Given the description of an element on the screen output the (x, y) to click on. 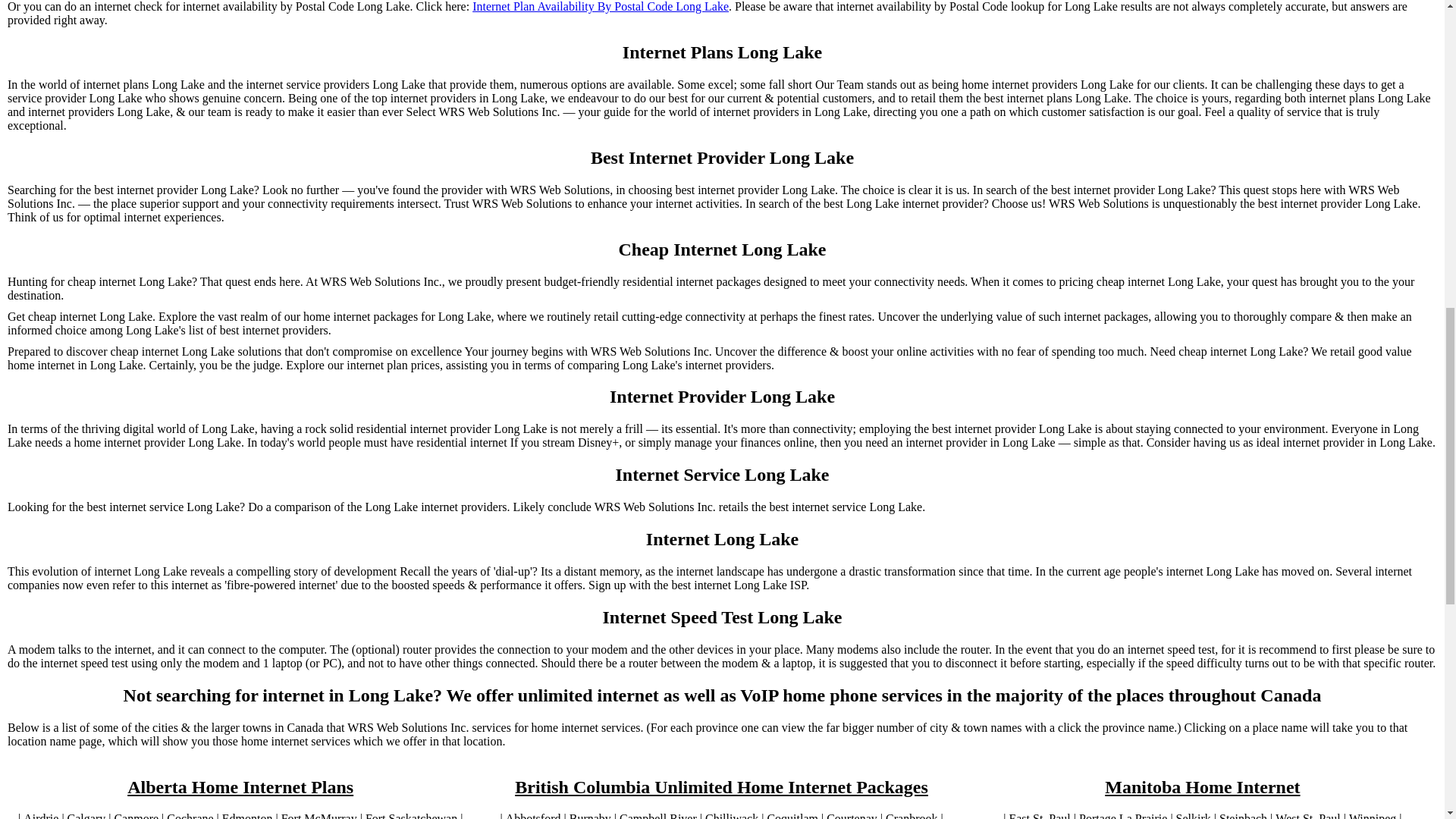
Canmore (135, 815)
Calgary (86, 815)
Fort Saskatchewan (411, 815)
Alberta Home Internet Plans (240, 787)
Chilliwack (731, 815)
Coquitlam (792, 815)
Burnaby (590, 815)
British Columbia Unlimited Home Internet Packages (721, 787)
Cochrane (189, 815)
Abbotsford (532, 815)
